Given the description of an element on the screen output the (x, y) to click on. 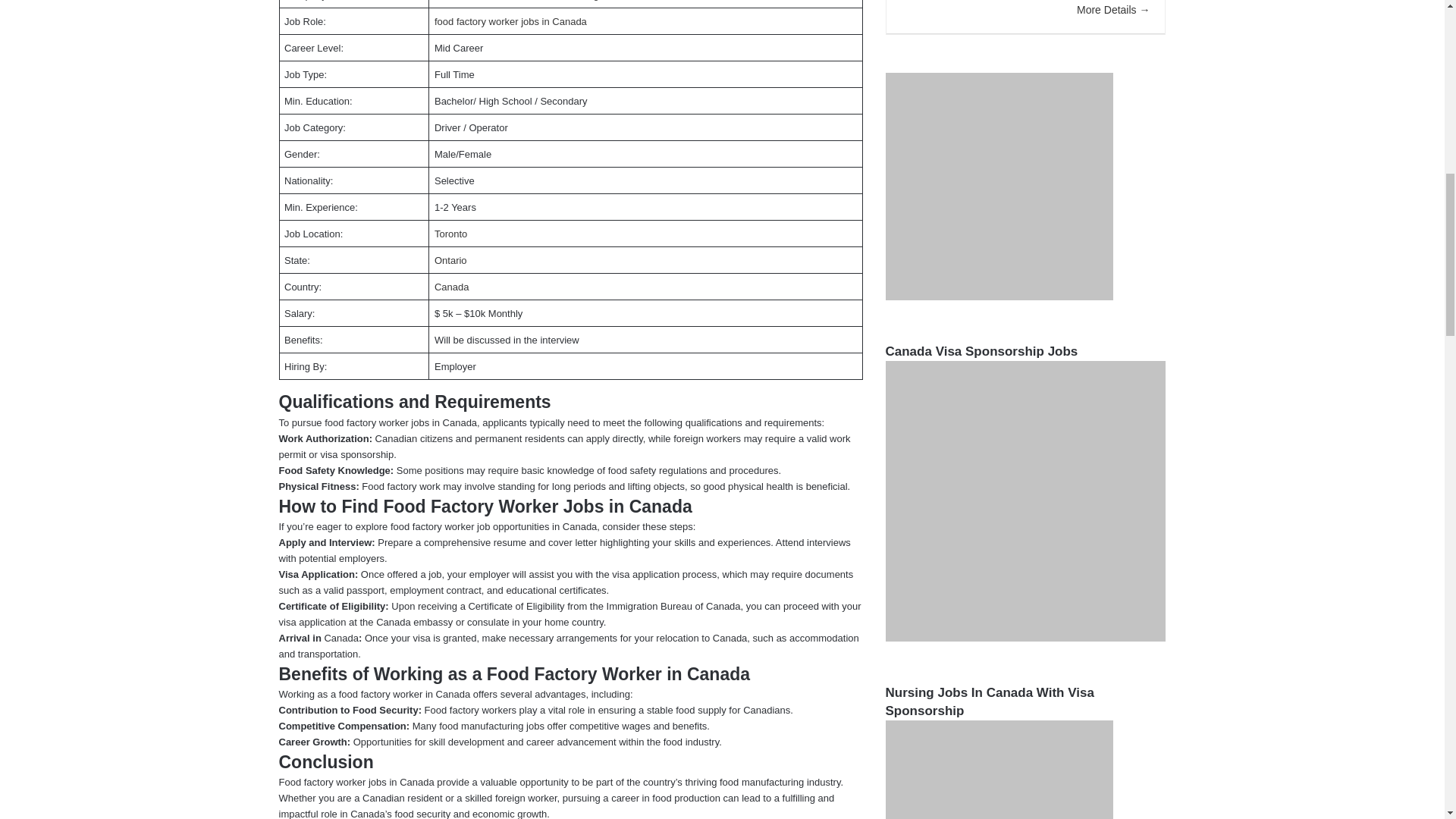
food factory worker jobs in Canada (509, 21)
Canada Visa Sponsorship Jobs (1025, 501)
Toronto (450, 233)
Ontario (450, 260)
Canada (450, 286)
